Given the description of an element on the screen output the (x, y) to click on. 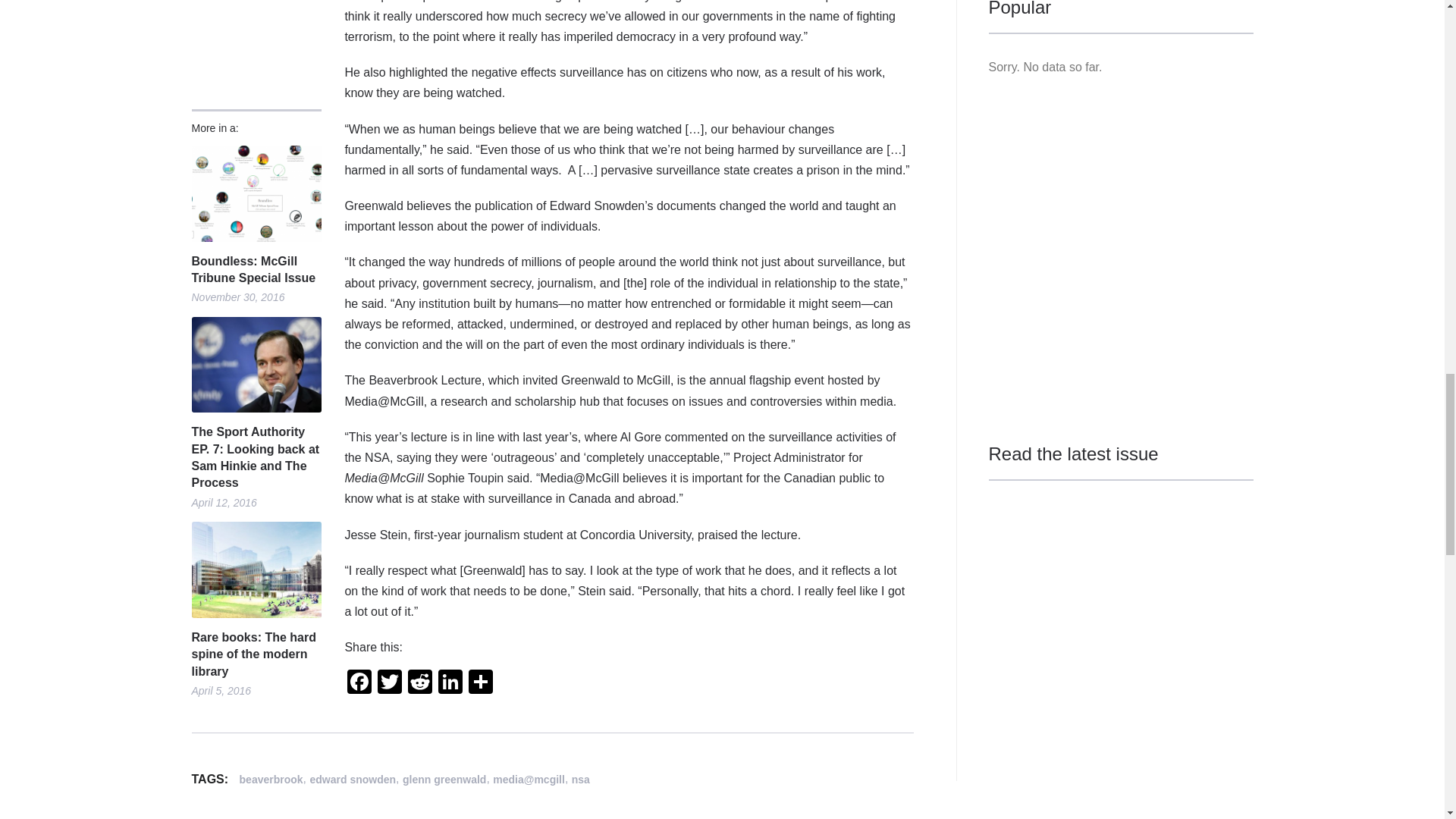
Twitter (389, 683)
Permalink to Boundless: McGill Tribune Special Issue (255, 270)
Facebook (358, 683)
Reddit (419, 683)
LinkedIn (450, 683)
Permalink to Boundless: McGill Tribune Special Issue (255, 192)
